Given the description of an element on the screen output the (x, y) to click on. 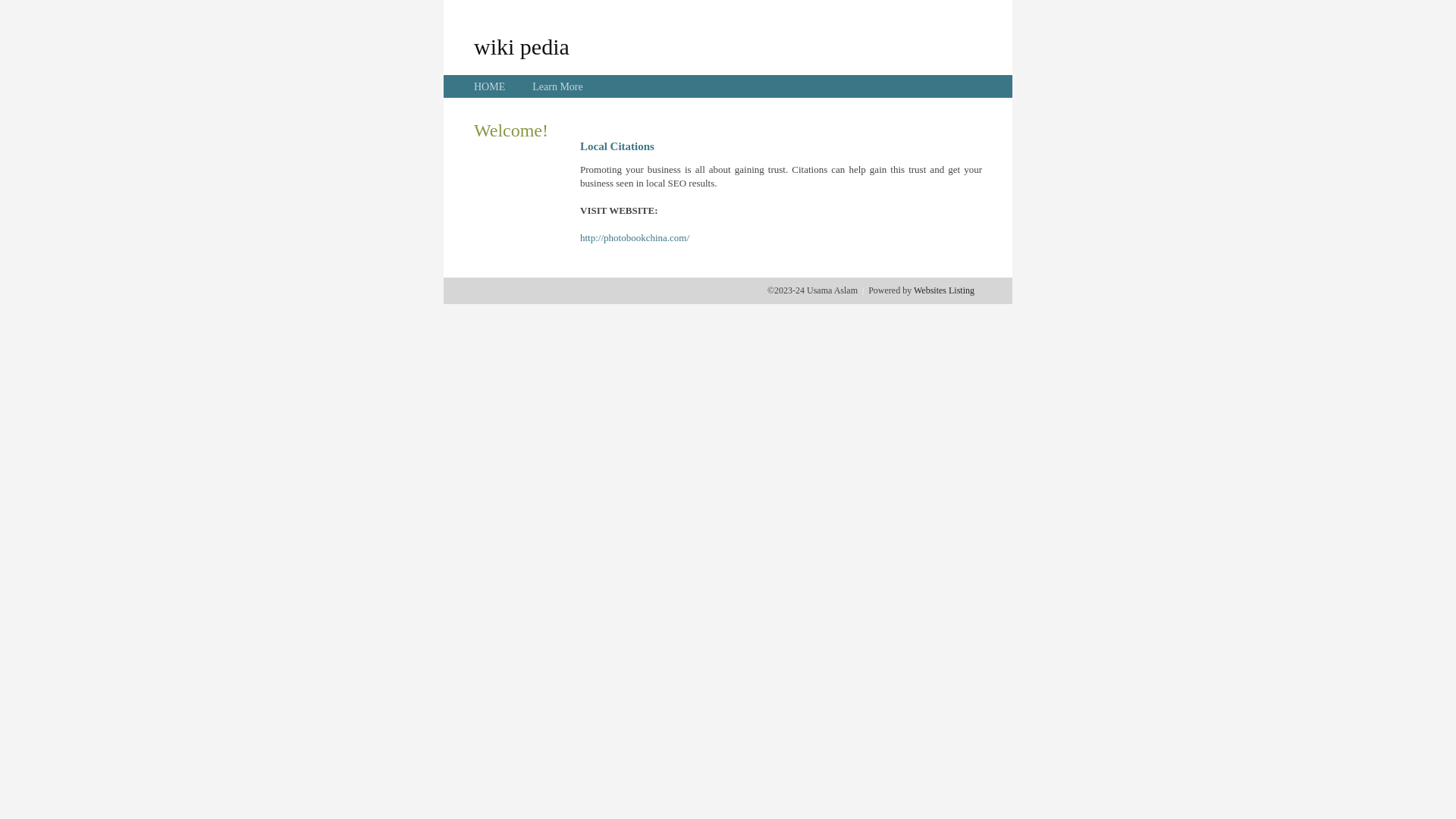
Websites Listing Element type: text (943, 290)
http://photobookchina.com/ Element type: text (634, 237)
HOME Element type: text (489, 86)
Learn More Element type: text (557, 86)
wiki pedia Element type: text (521, 46)
